Given the description of an element on the screen output the (x, y) to click on. 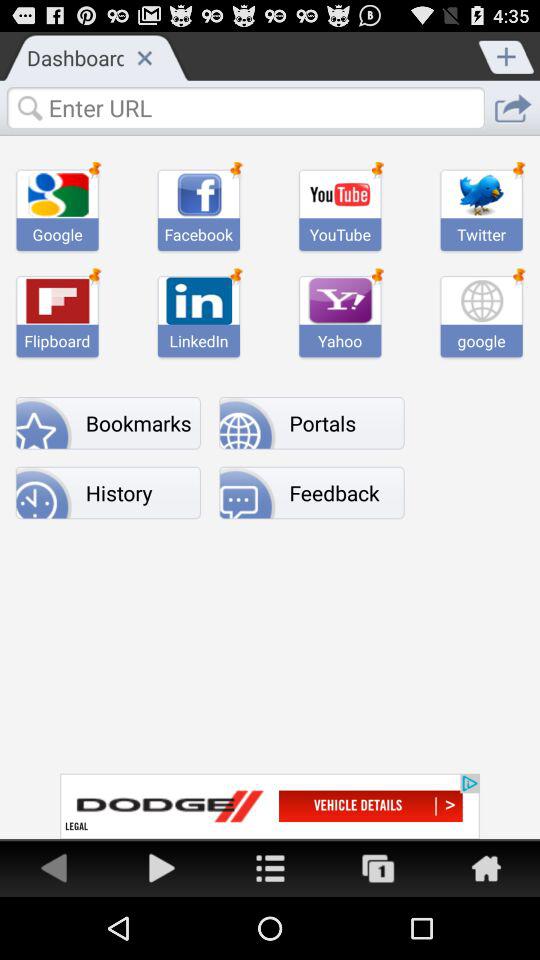
go back (54, 867)
